Given the description of an element on the screen output the (x, y) to click on. 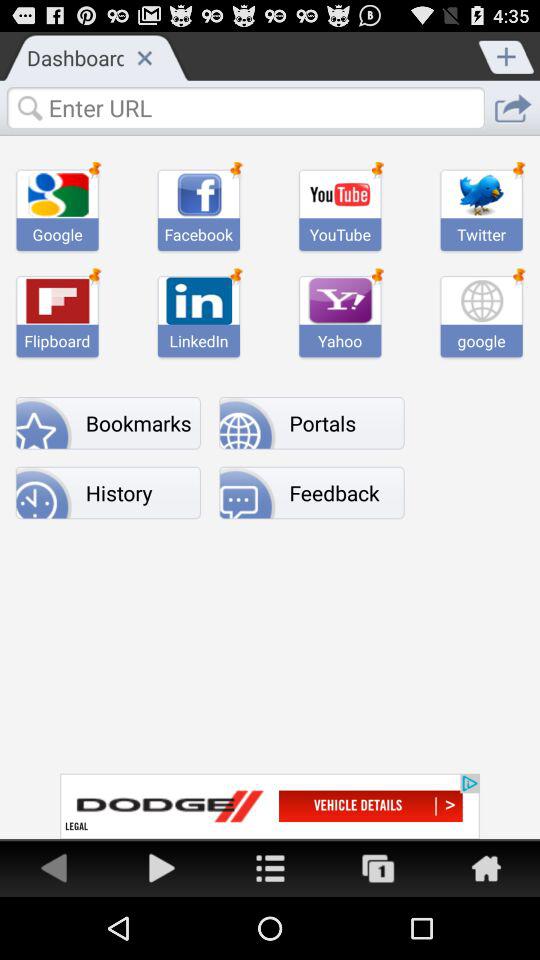
go back (54, 867)
